Given the description of an element on the screen output the (x, y) to click on. 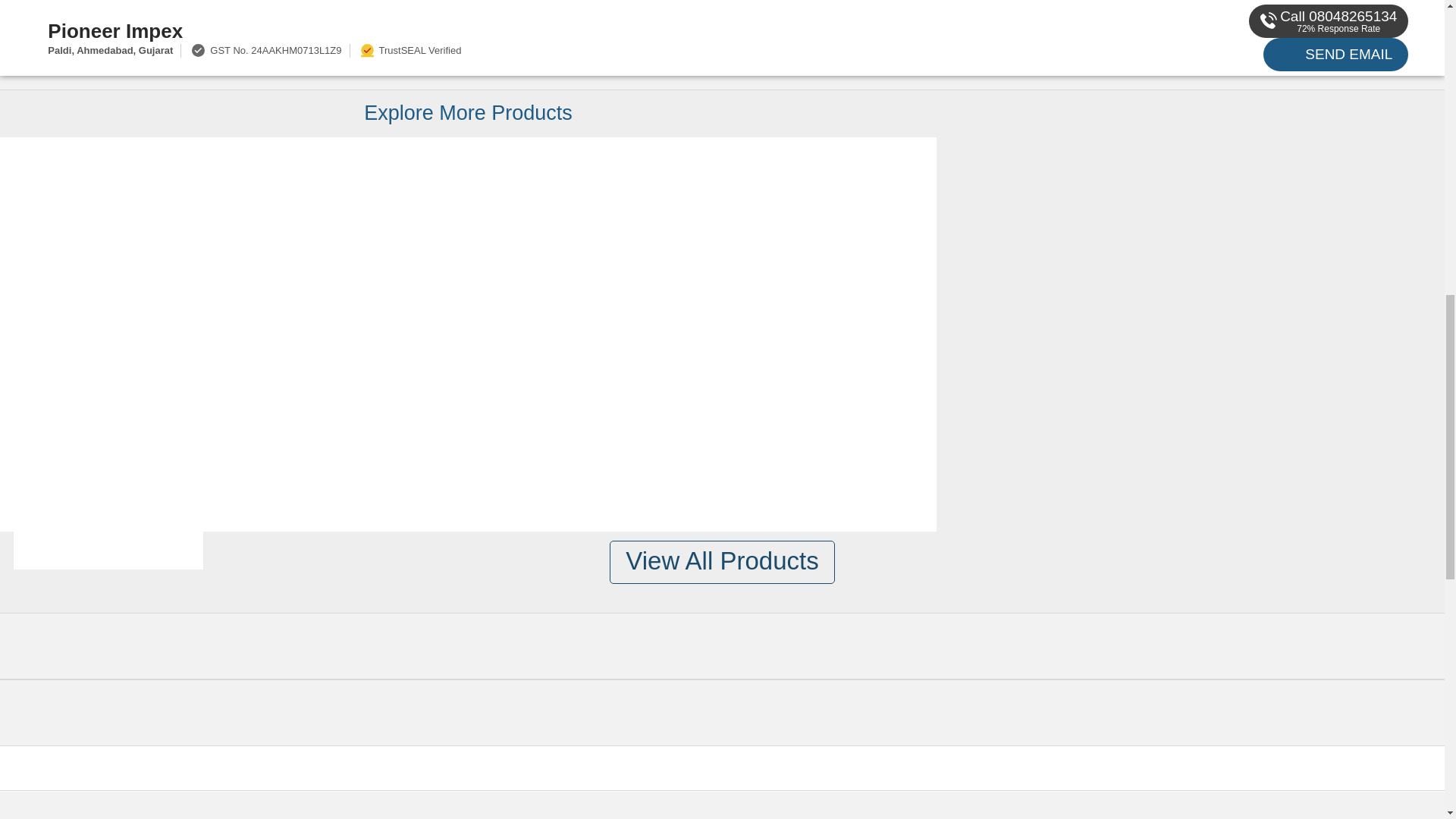
View All Products (722, 561)
